Given the description of an element on the screen output the (x, y) to click on. 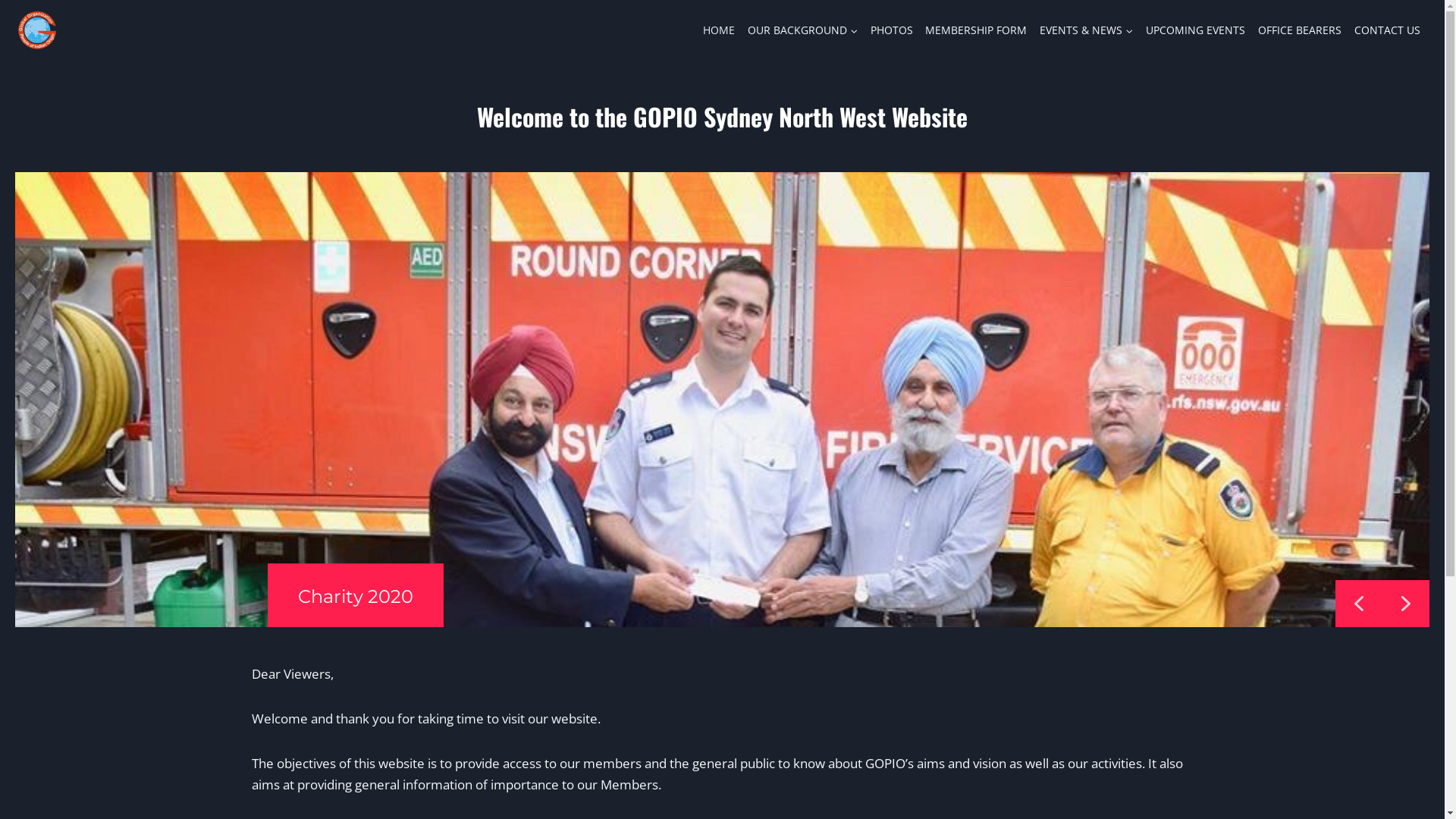
PHOTOS Element type: text (891, 29)
CONTACT US Element type: text (1386, 29)
OFFICE BEARERS Element type: text (1299, 29)
OUR BACKGROUND Element type: text (802, 29)
EVENTS & NEWS Element type: text (1086, 29)
MEMBERSHIP FORM Element type: text (976, 29)
HOME Element type: text (718, 29)
UPCOMING EVENTS Element type: text (1195, 29)
